Given the description of an element on the screen output the (x, y) to click on. 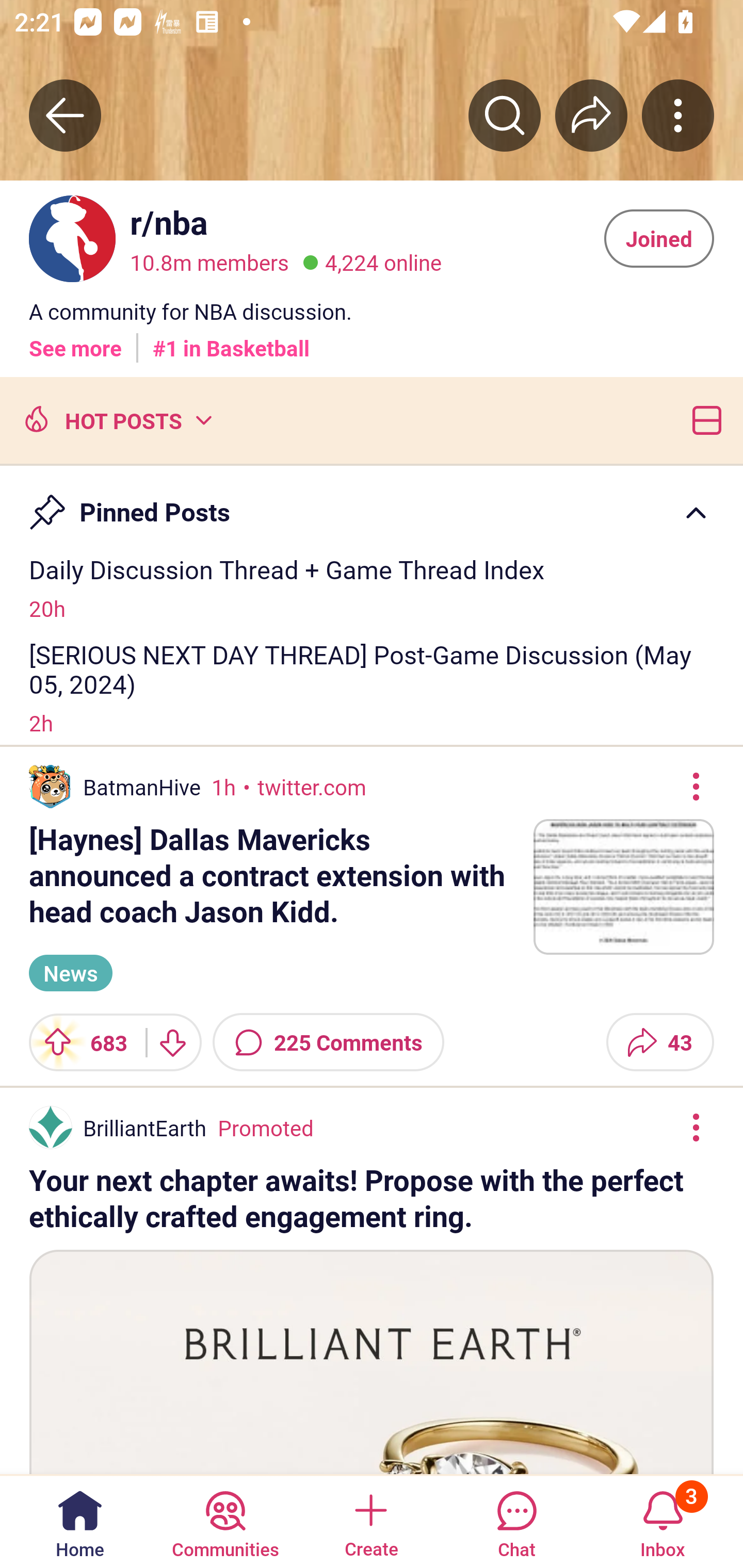
Back (64, 115)
Search r/﻿nba (504, 115)
Share r/﻿nba (591, 115)
More community actions (677, 115)
Hot posts HOT POSTS (116, 419)
Card (703, 419)
Pin Pinned Posts Caret (371, 503)
Daily Discussion Thread + Game Thread Index 20h (371, 587)
News (70, 972)
Home (80, 1520)
Communities (225, 1520)
Create a post Create (370, 1520)
Chat (516, 1520)
Inbox, has 3 notifications 3 Inbox (662, 1520)
